Given the description of an element on the screen output the (x, y) to click on. 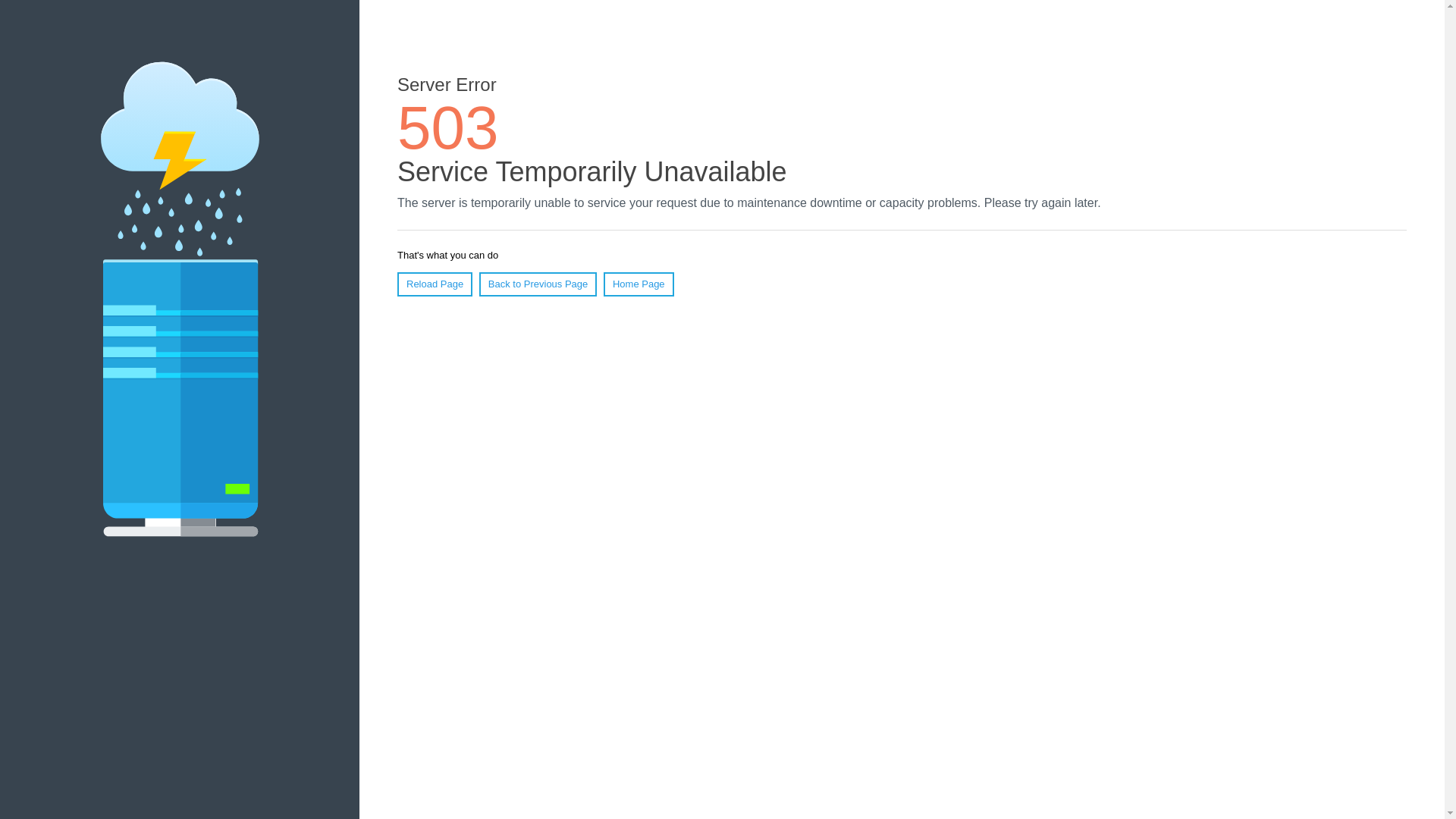
Reload Page (434, 283)
Back to Previous Page (537, 283)
Home Page (639, 283)
